Given the description of an element on the screen output the (x, y) to click on. 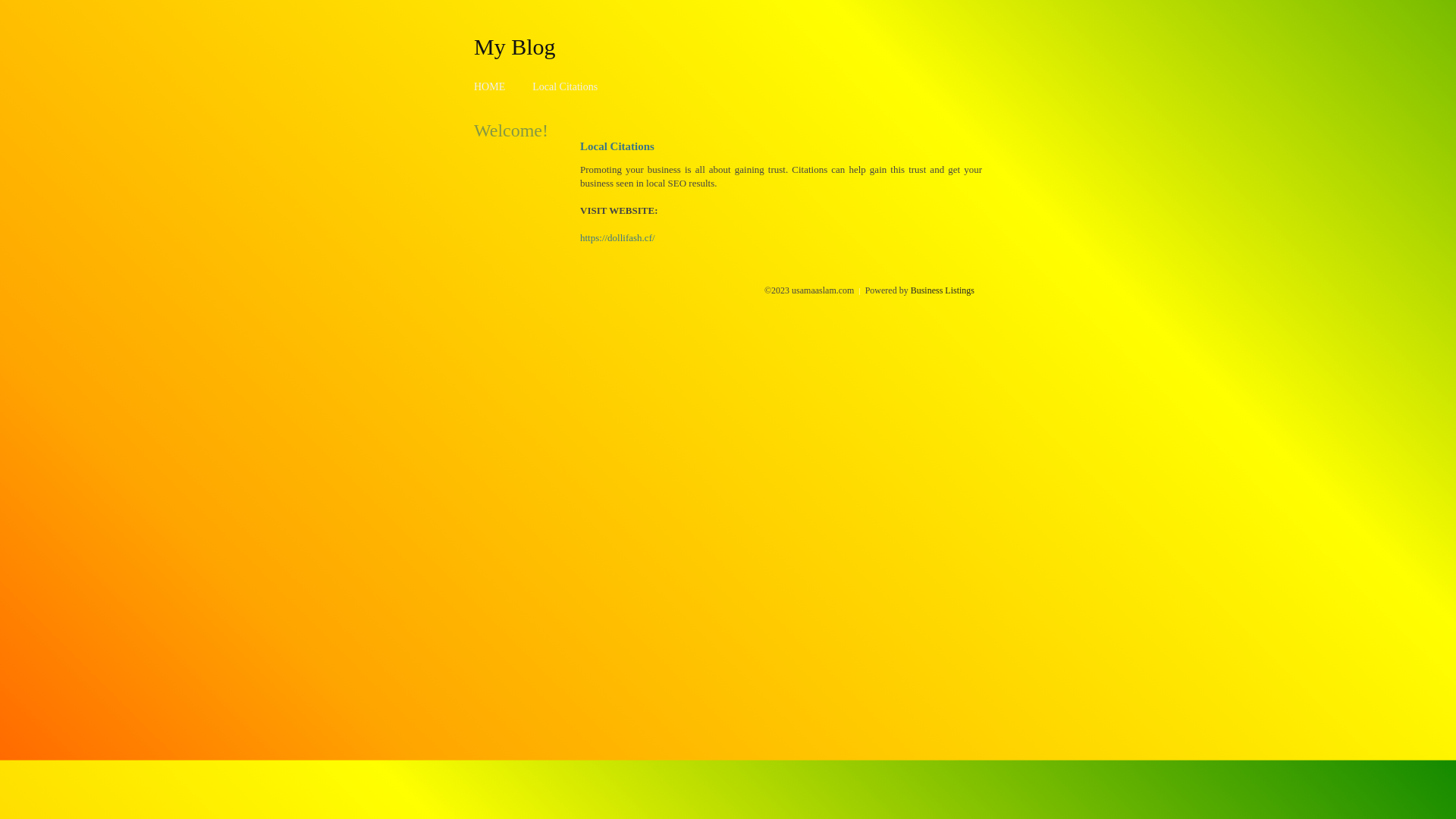
My Blog Element type: text (514, 46)
https://dollifash.cf/ Element type: text (617, 237)
Local Citations Element type: text (564, 86)
Business Listings Element type: text (942, 290)
HOME Element type: text (489, 86)
